Given the description of an element on the screen output the (x, y) to click on. 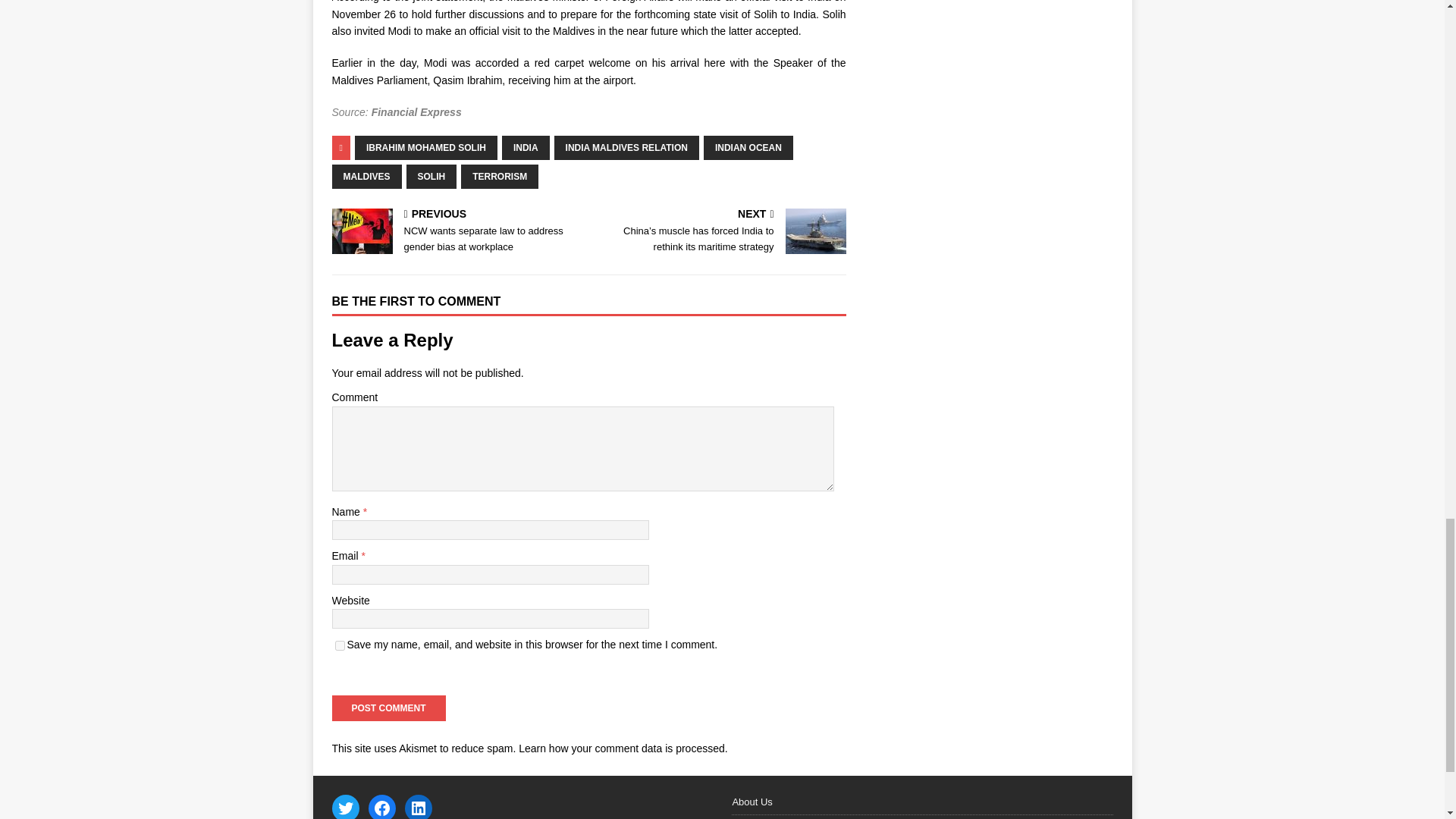
yes (339, 645)
Post Comment (388, 708)
IBRAHIM MOHAMED SOLIH (426, 147)
Financial Express (416, 111)
INDIA (526, 147)
